Given the description of an element on the screen output the (x, y) to click on. 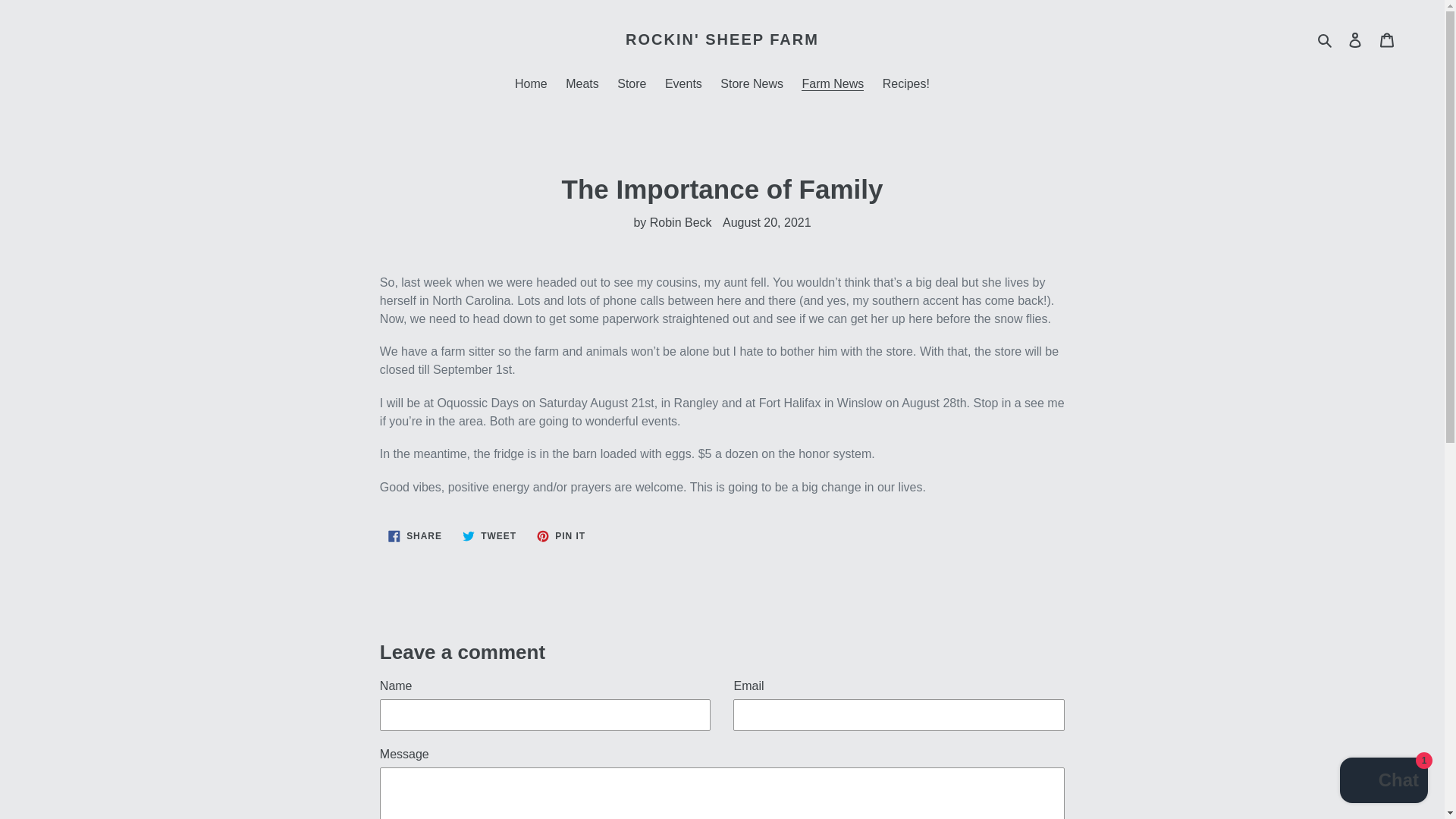
Meats (414, 535)
Home (582, 85)
Cart (530, 85)
Events (1387, 39)
Recipes! (684, 85)
Store News (906, 85)
ROCKIN' SHEEP FARM (561, 535)
Store (751, 85)
Search (722, 39)
Farm News (489, 535)
Log in (631, 85)
Shopify online store chat (1326, 39)
